Given the description of an element on the screen output the (x, y) to click on. 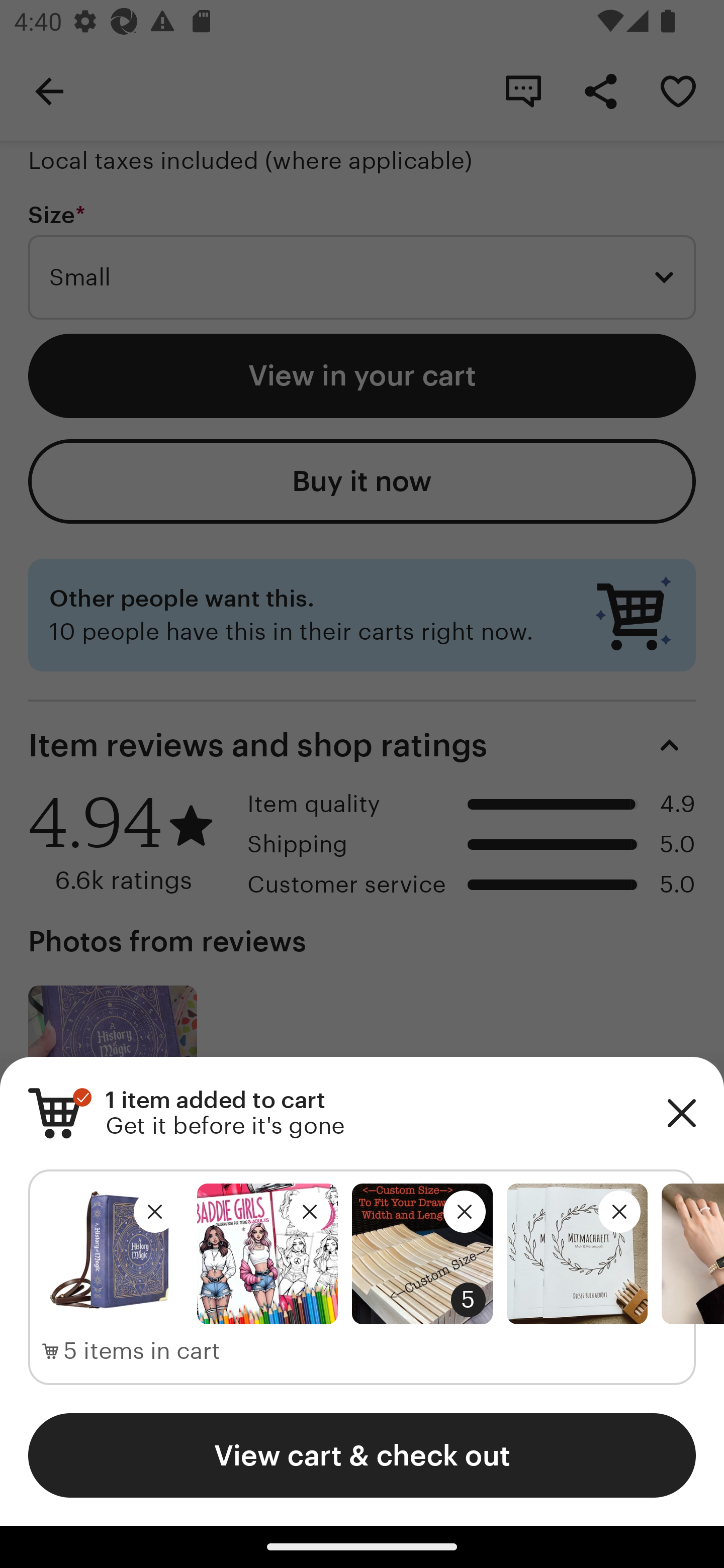
5 items in cart (130, 1351)
View cart & check out (361, 1454)
